Given the description of an element on the screen output the (x, y) to click on. 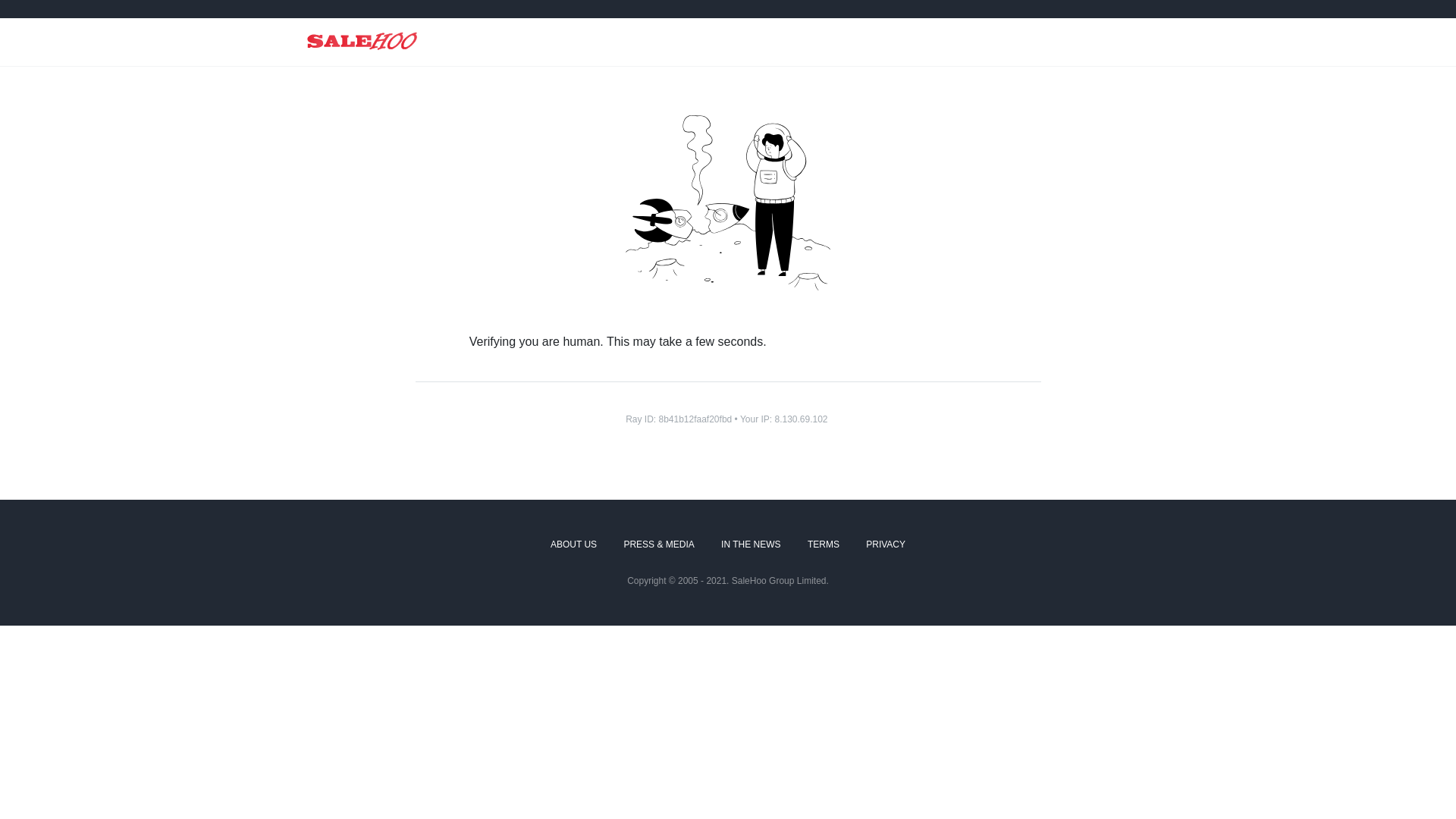
PRIVACY (885, 545)
ABOUT US (573, 545)
IN THE NEWS (750, 545)
TERMS (824, 545)
